Given the description of an element on the screen output the (x, y) to click on. 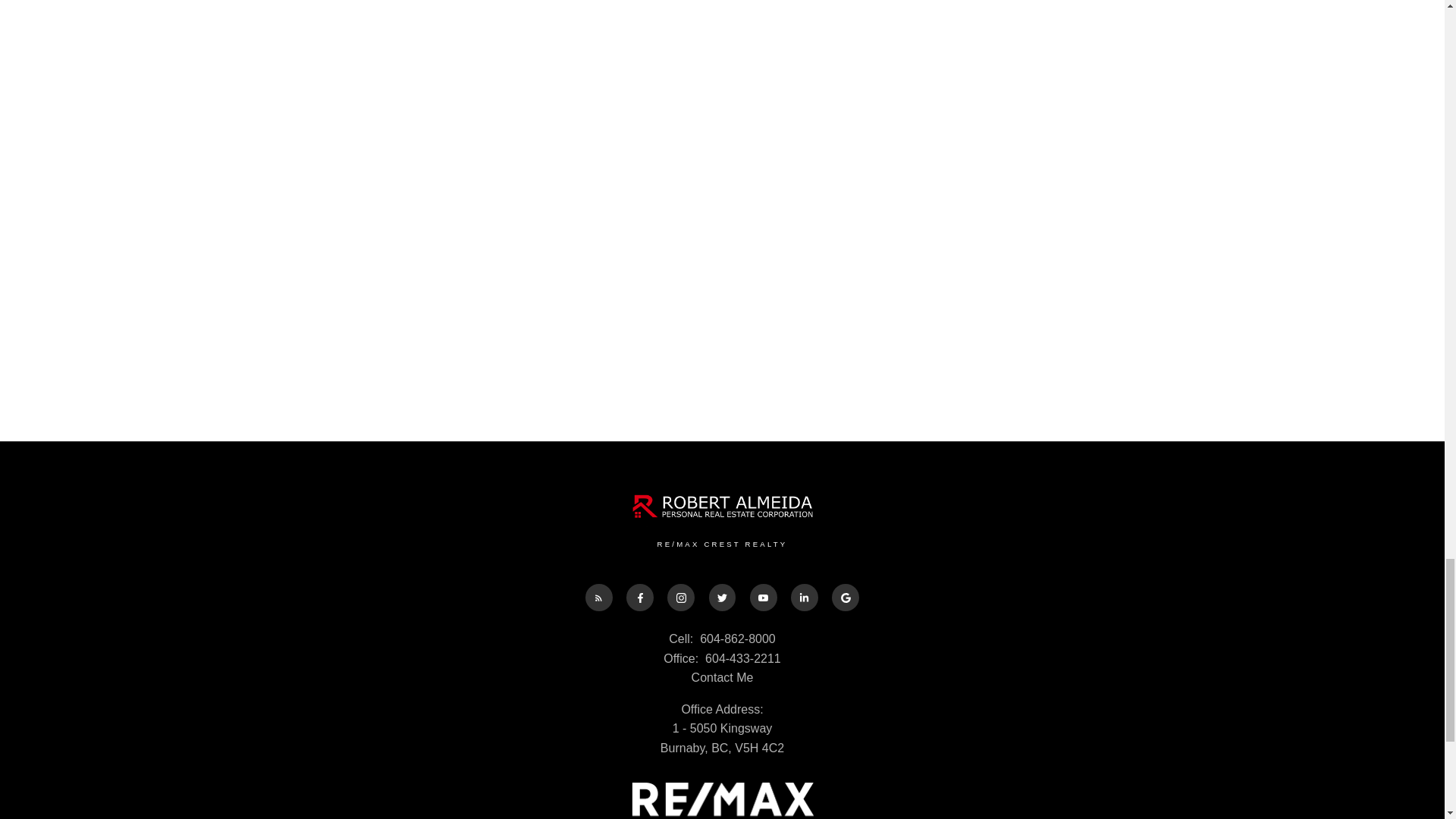
Contact Me (722, 676)
Office:  604-433-2211 (722, 659)
Cell:  604-862-8000 (722, 639)
